Given the description of an element on the screen output the (x, y) to click on. 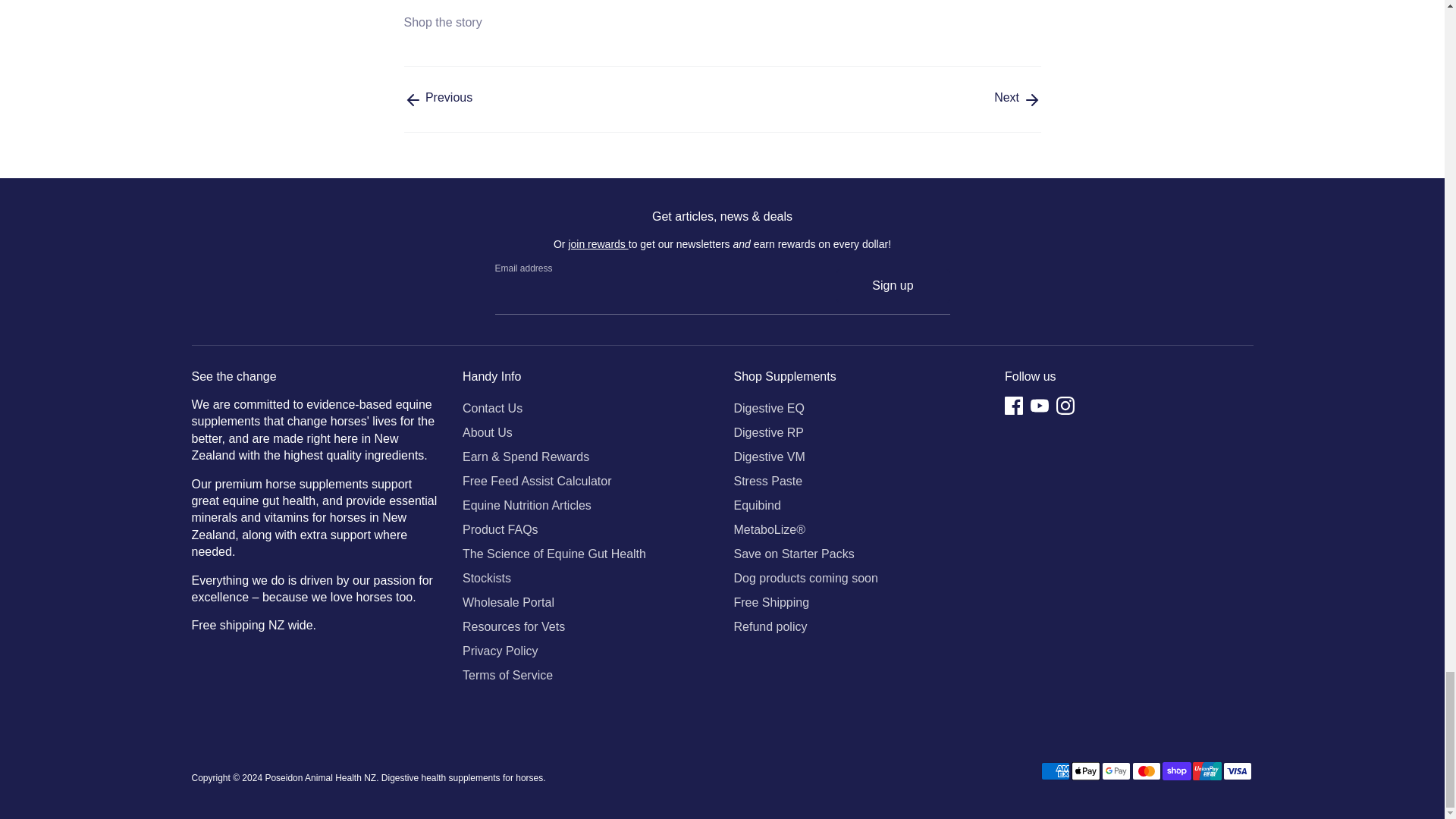
Mastercard (1145, 771)
Google Pay (1114, 771)
American Express (1054, 771)
Shop Pay (1176, 771)
Apple Pay (1084, 771)
